Given the description of an element on the screen output the (x, y) to click on. 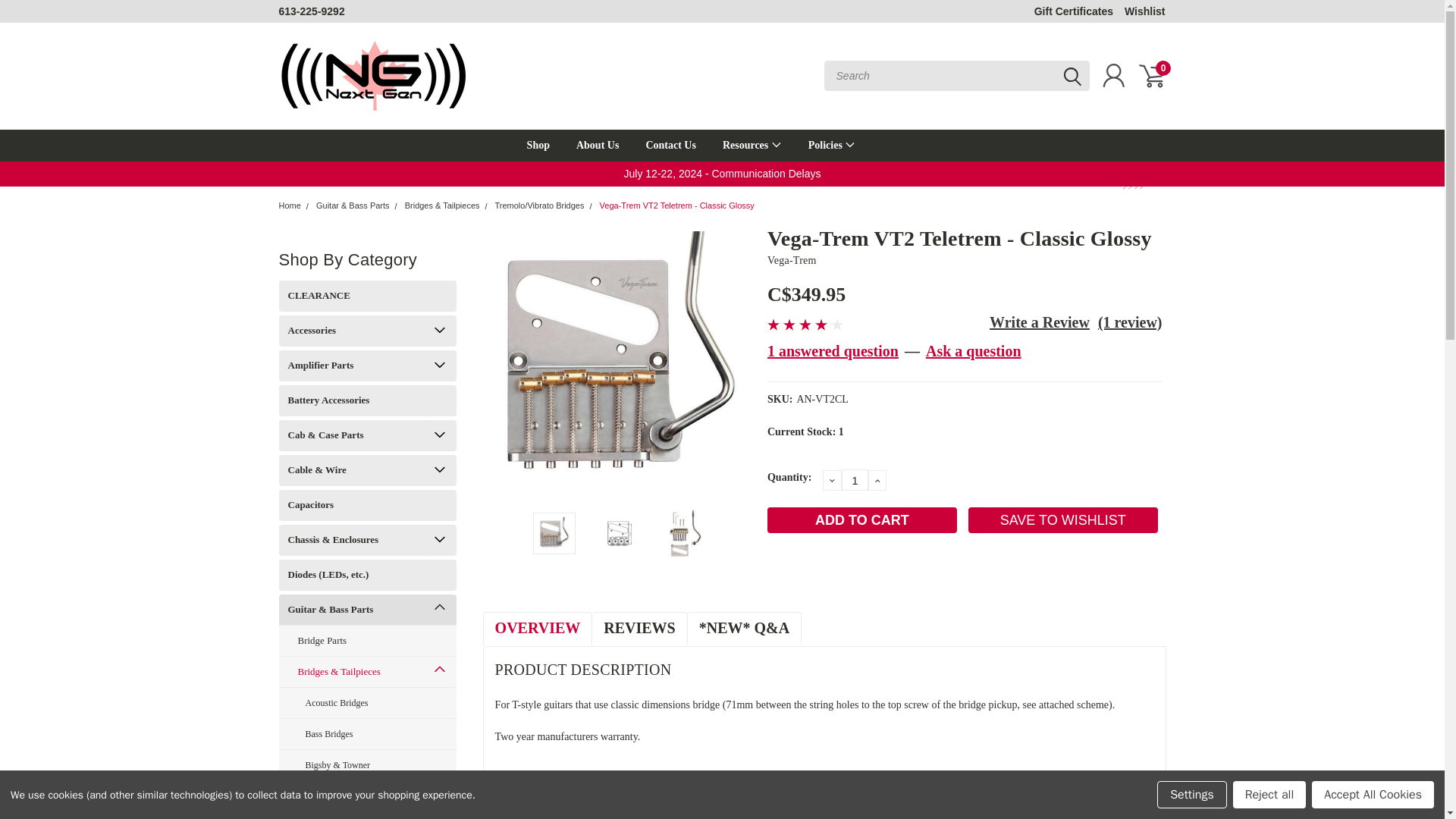
Vega-Trem VT2 Teletrem - Classic Glossy (619, 359)
Gift Certificates (1073, 10)
1 (854, 479)
0 (1151, 75)
Vega-Trem VT2 Teletrem - Classic Glossy (553, 532)
613-225-9292 (312, 10)
Add to Cart (861, 519)
Wishlist (1145, 10)
Next Gen Musical Ltd. (373, 75)
Vega-Trem VT2 Teletrem - Classic Glossy (619, 533)
